Given the description of an element on the screen output the (x, y) to click on. 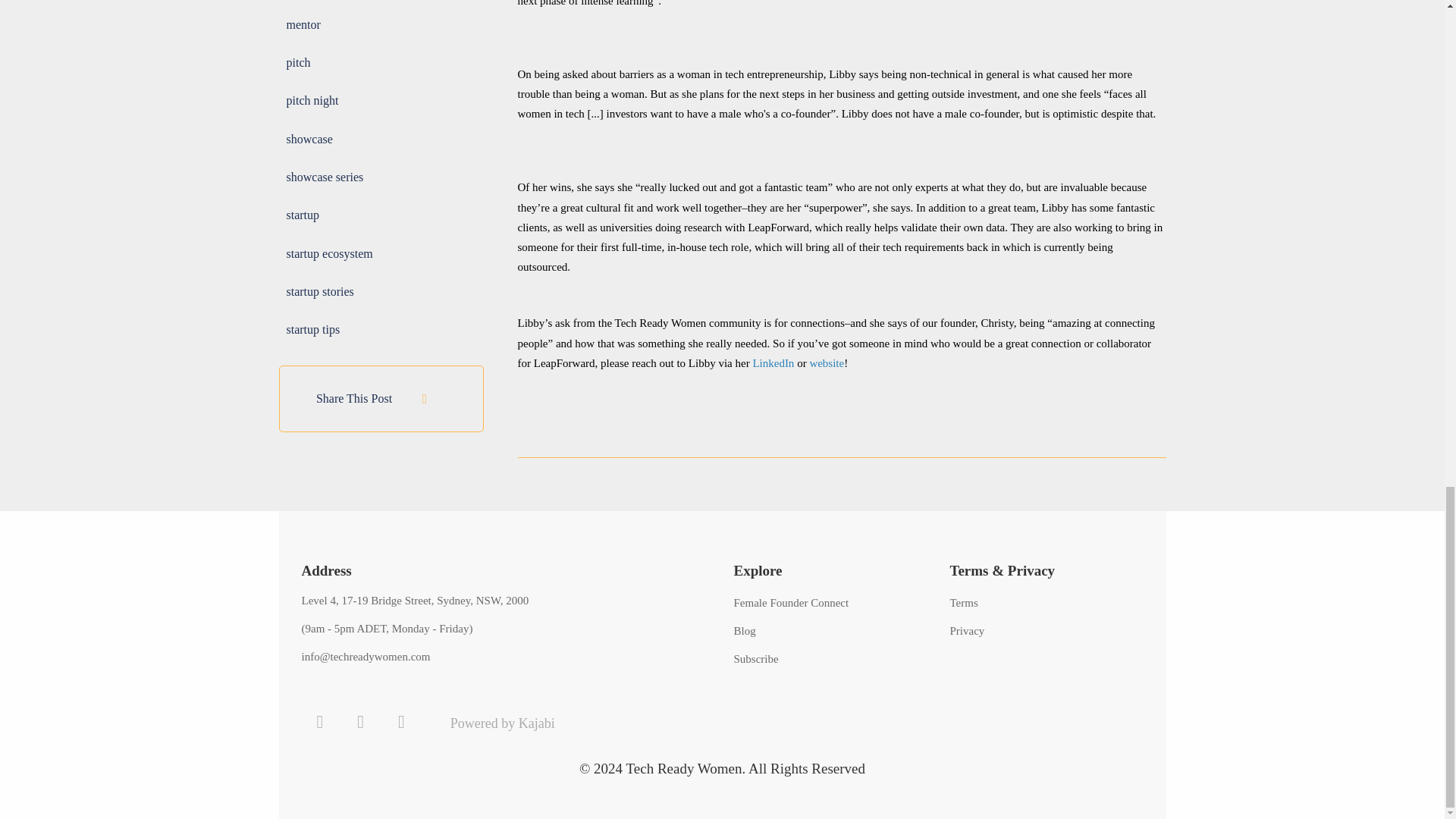
mentor (302, 24)
